Given the description of an element on the screen output the (x, y) to click on. 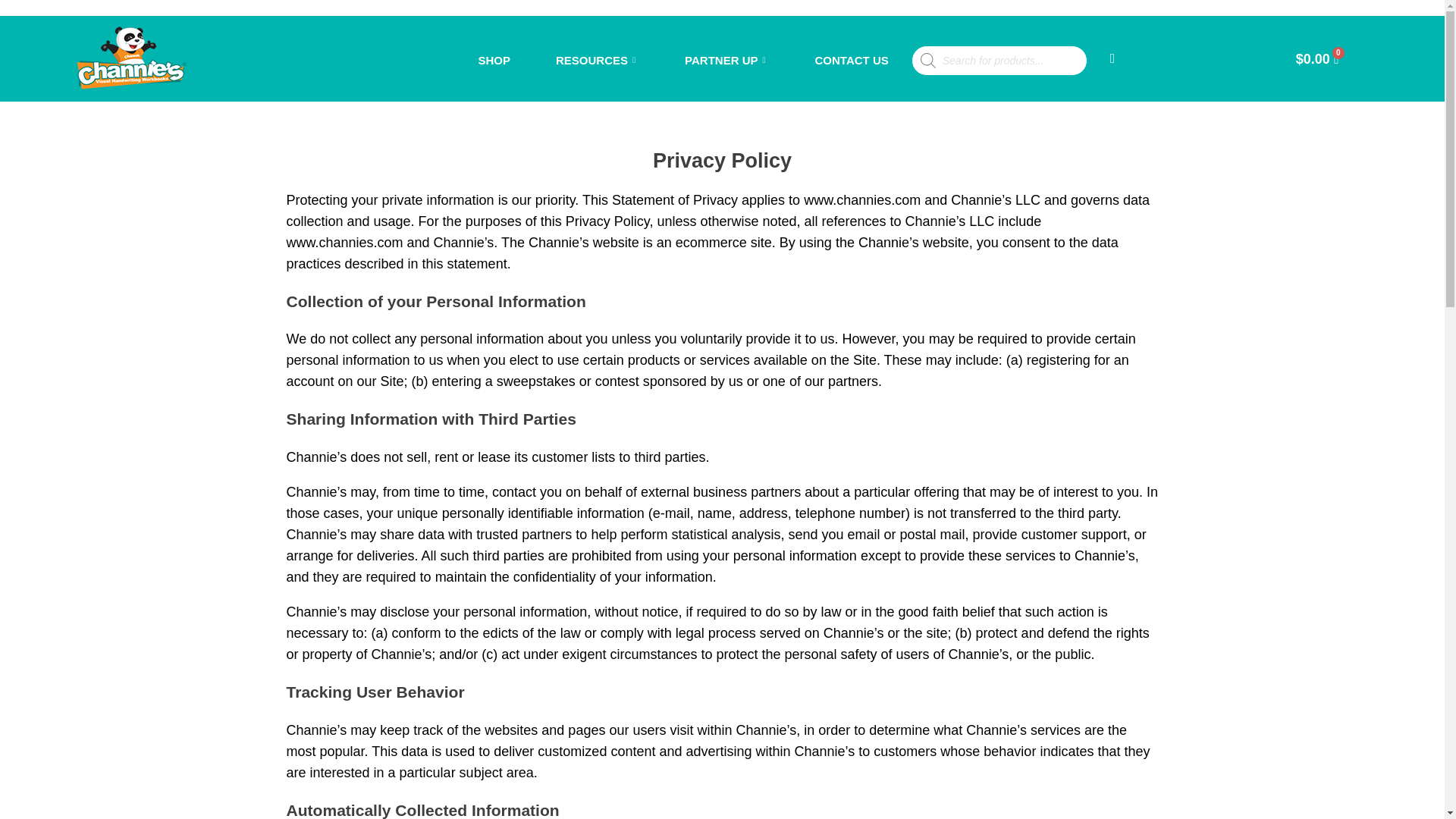
PARTNER UP (727, 60)
CONTACT US (851, 60)
RESOURCES (597, 60)
SHOP (494, 60)
MY ACCOUNT (1114, 60)
